Given the description of an element on the screen output the (x, y) to click on. 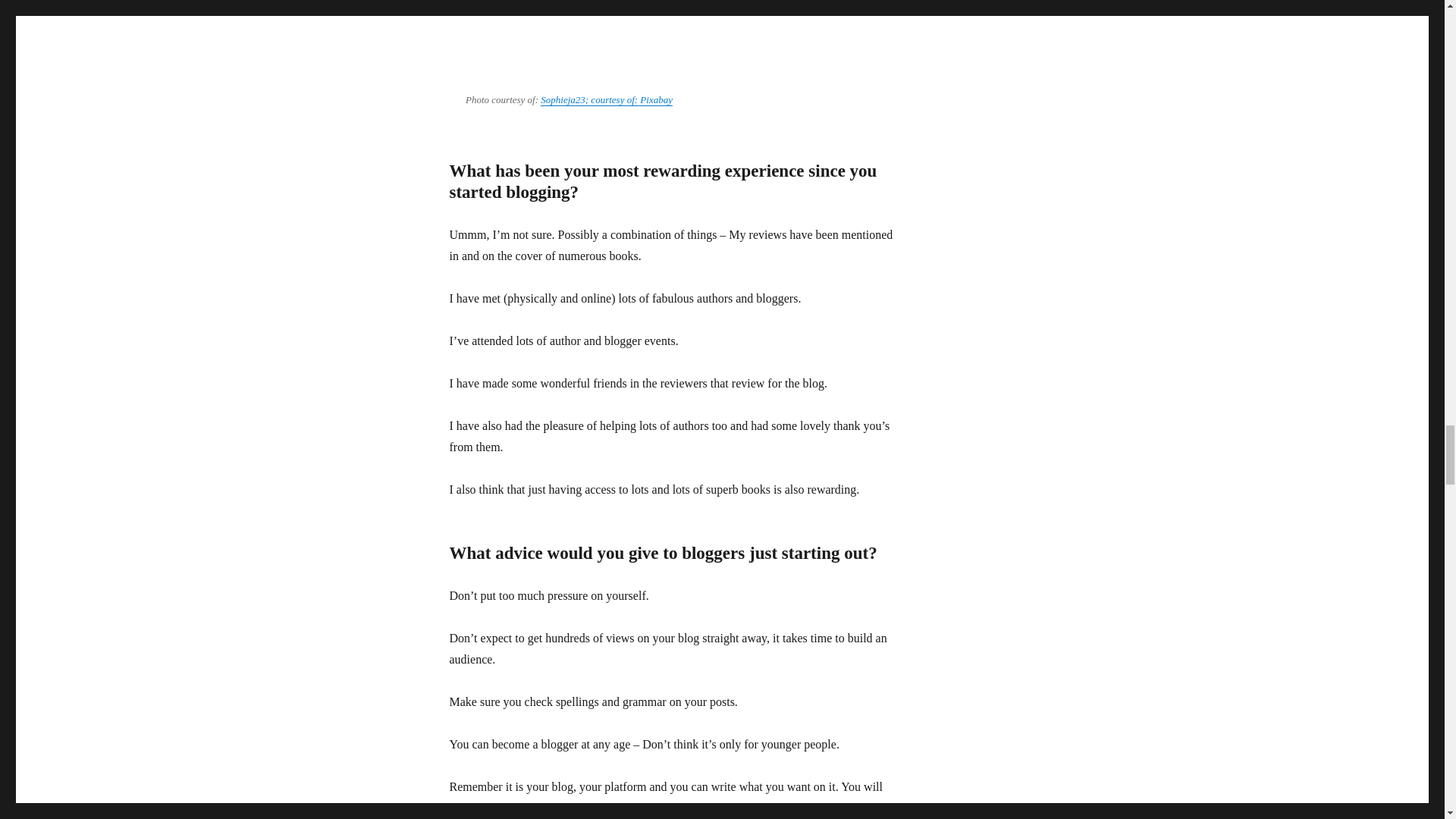
Sophieja23; courtesy of: Pixabay (606, 99)
